Given the description of an element on the screen output the (x, y) to click on. 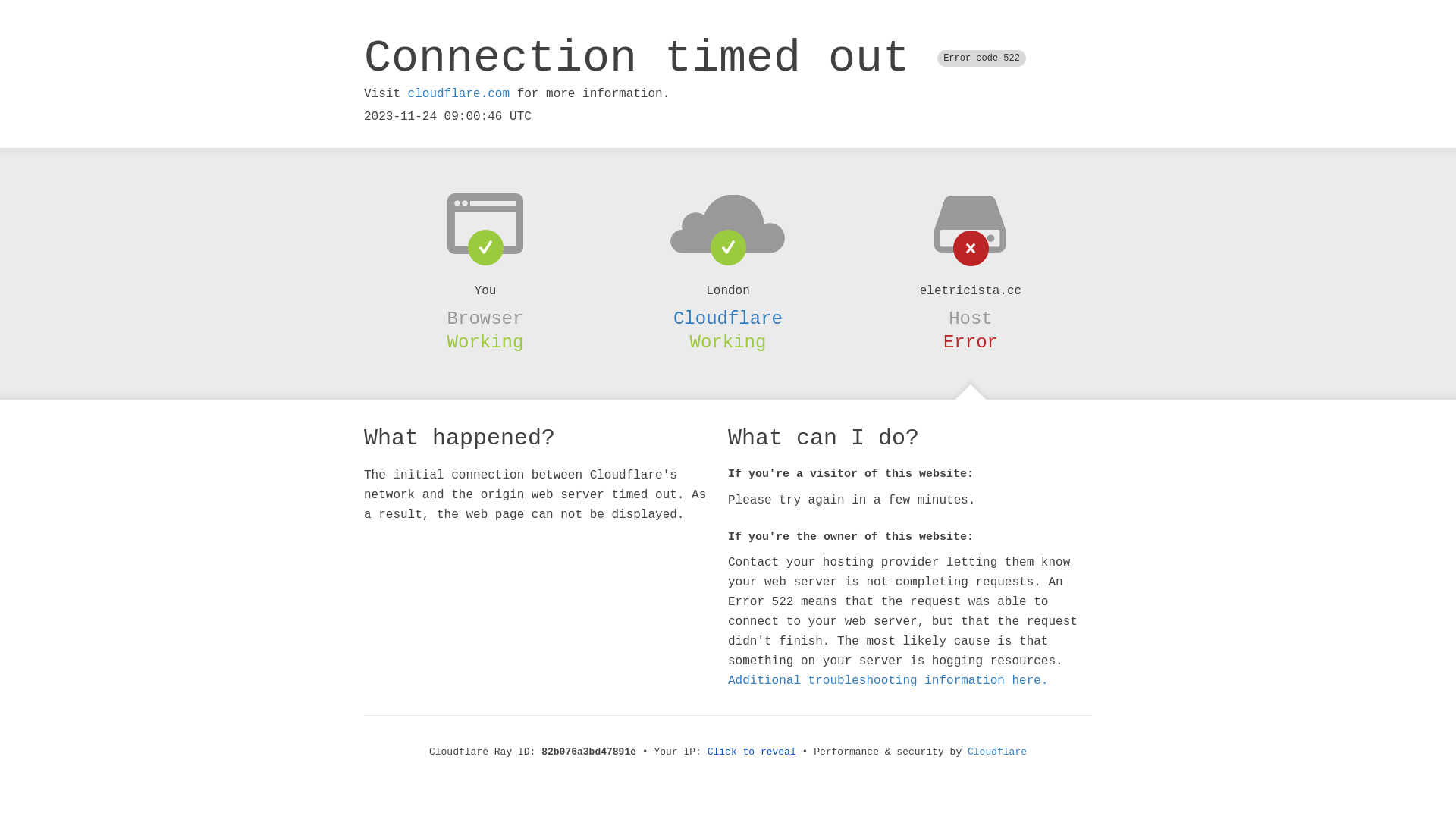
cloudflare.com Element type: text (458, 93)
Cloudflare Element type: text (996, 751)
Additional troubleshooting information here. Element type: text (888, 680)
Click to reveal Element type: text (751, 751)
Cloudflare Element type: text (727, 318)
